Given the description of an element on the screen output the (x, y) to click on. 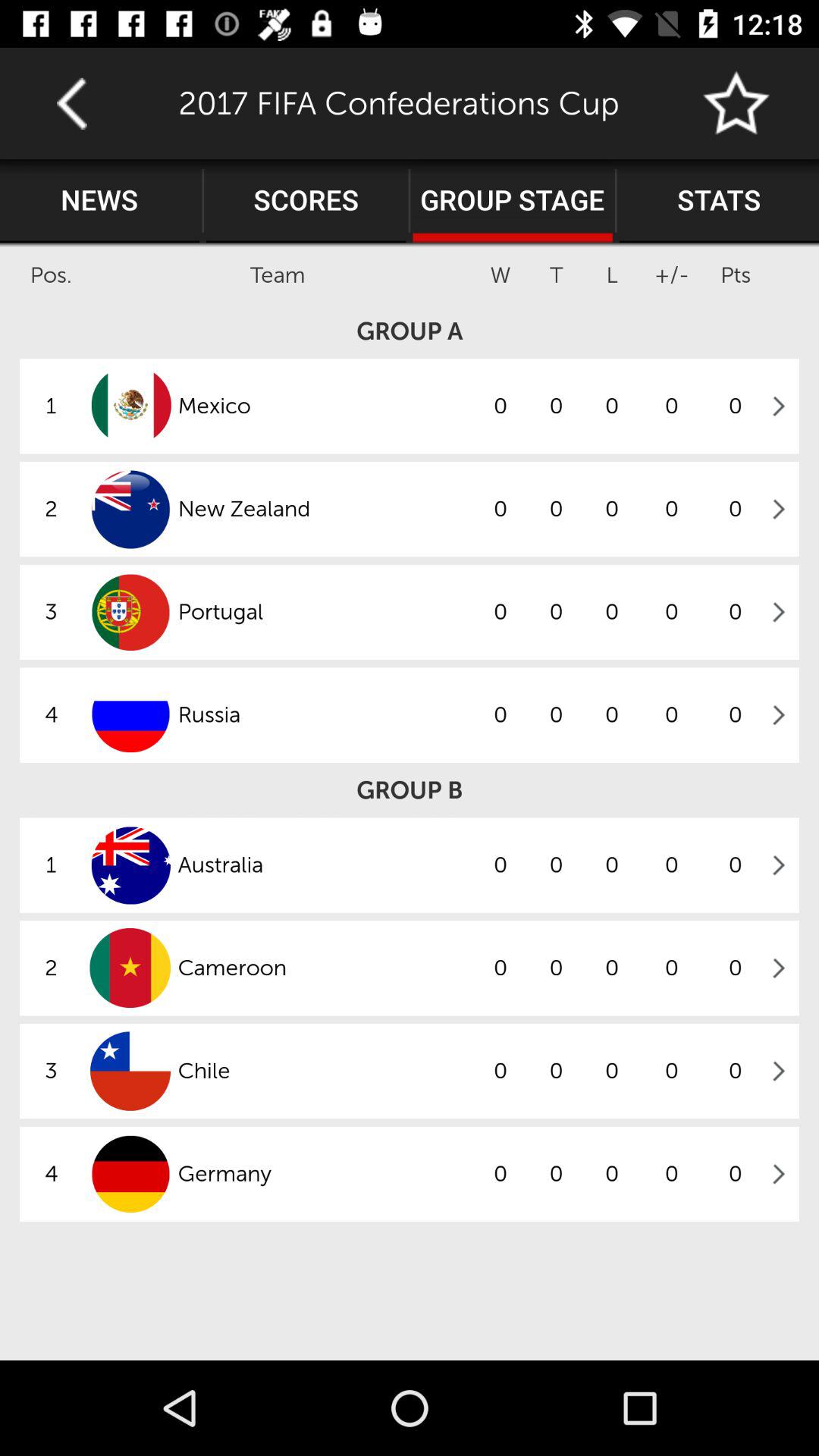
favorite (736, 103)
